Given the description of an element on the screen output the (x, y) to click on. 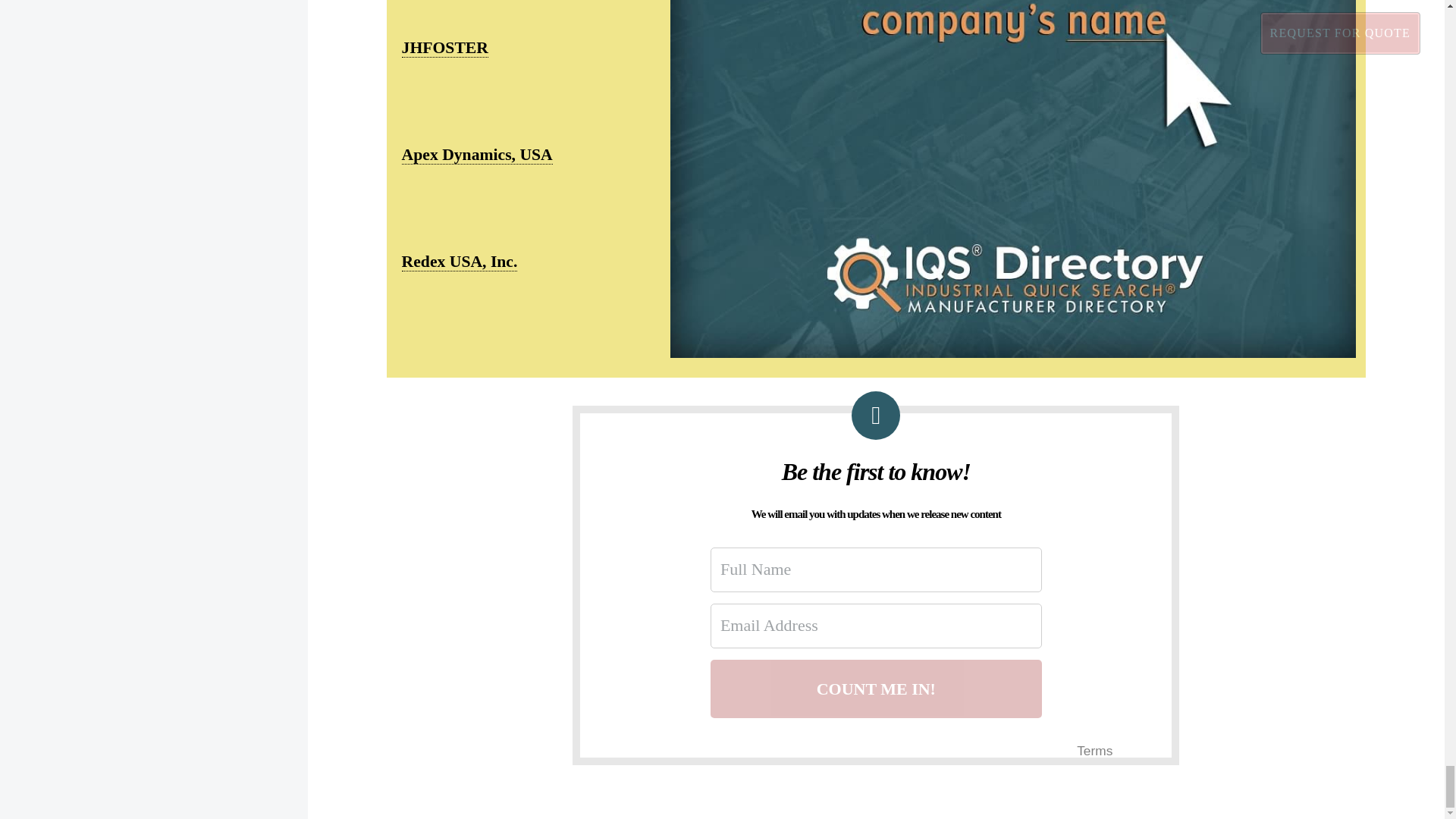
Apex Dynamics, USA (477, 154)
JHFOSTER (444, 47)
Terms (1094, 750)
COUNT ME IN! (876, 689)
Redex USA, Inc. (459, 261)
